Given the description of an element on the screen output the (x, y) to click on. 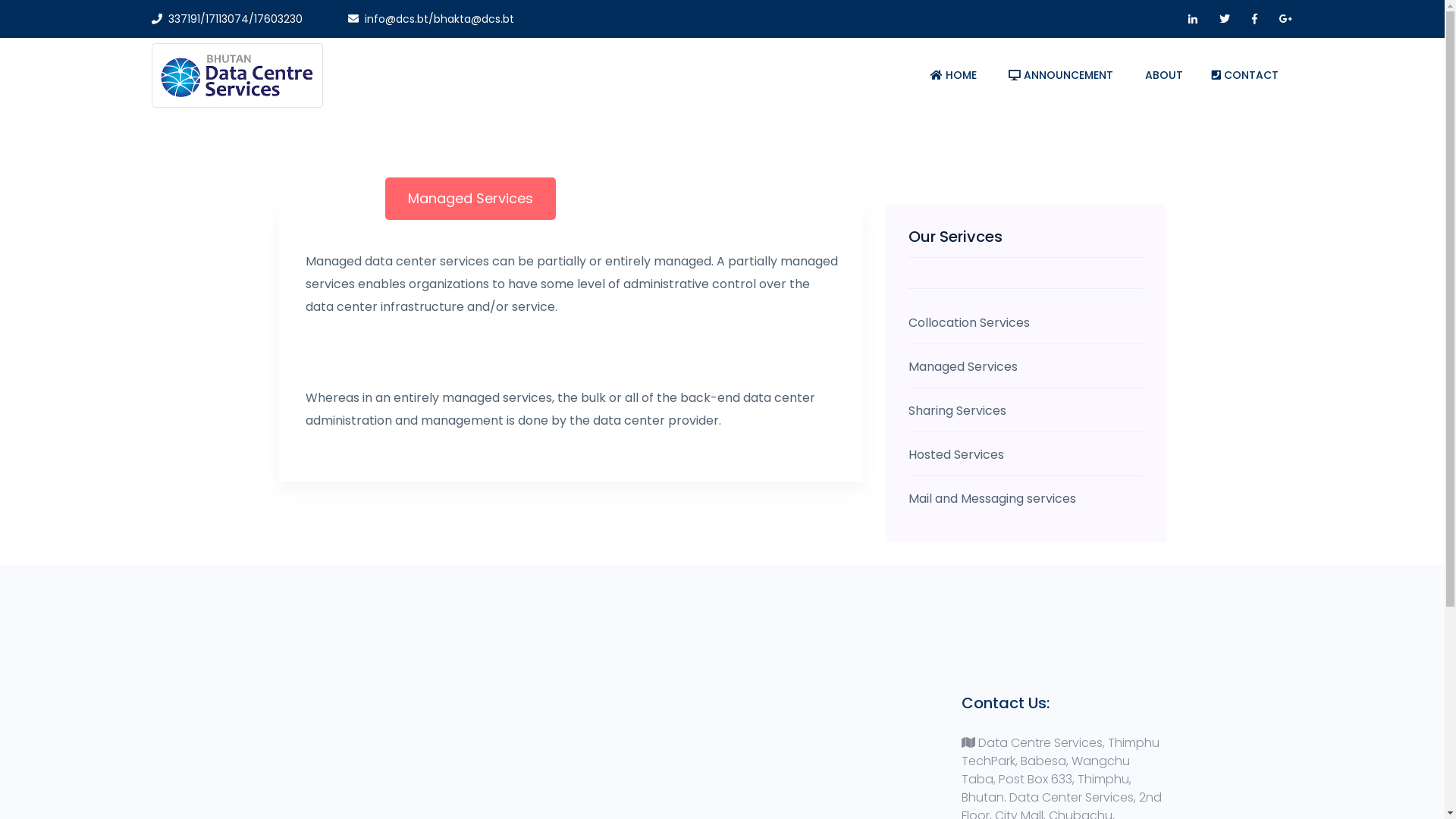
Managed Services Element type: text (1025, 366)
Mail and Messaging services Element type: text (1025, 498)
Managed Services Element type: text (470, 198)
Hosted Services Element type: text (1025, 454)
HOME Element type: text (953, 74)
ANNOUNCEMENT Element type: text (1060, 74)
Sharing Services Element type: text (1025, 410)
Collocation Services Element type: text (1025, 322)
ABOUT Element type: text (1163, 74)
CONTACT Element type: text (1244, 74)
